Given the description of an element on the screen output the (x, y) to click on. 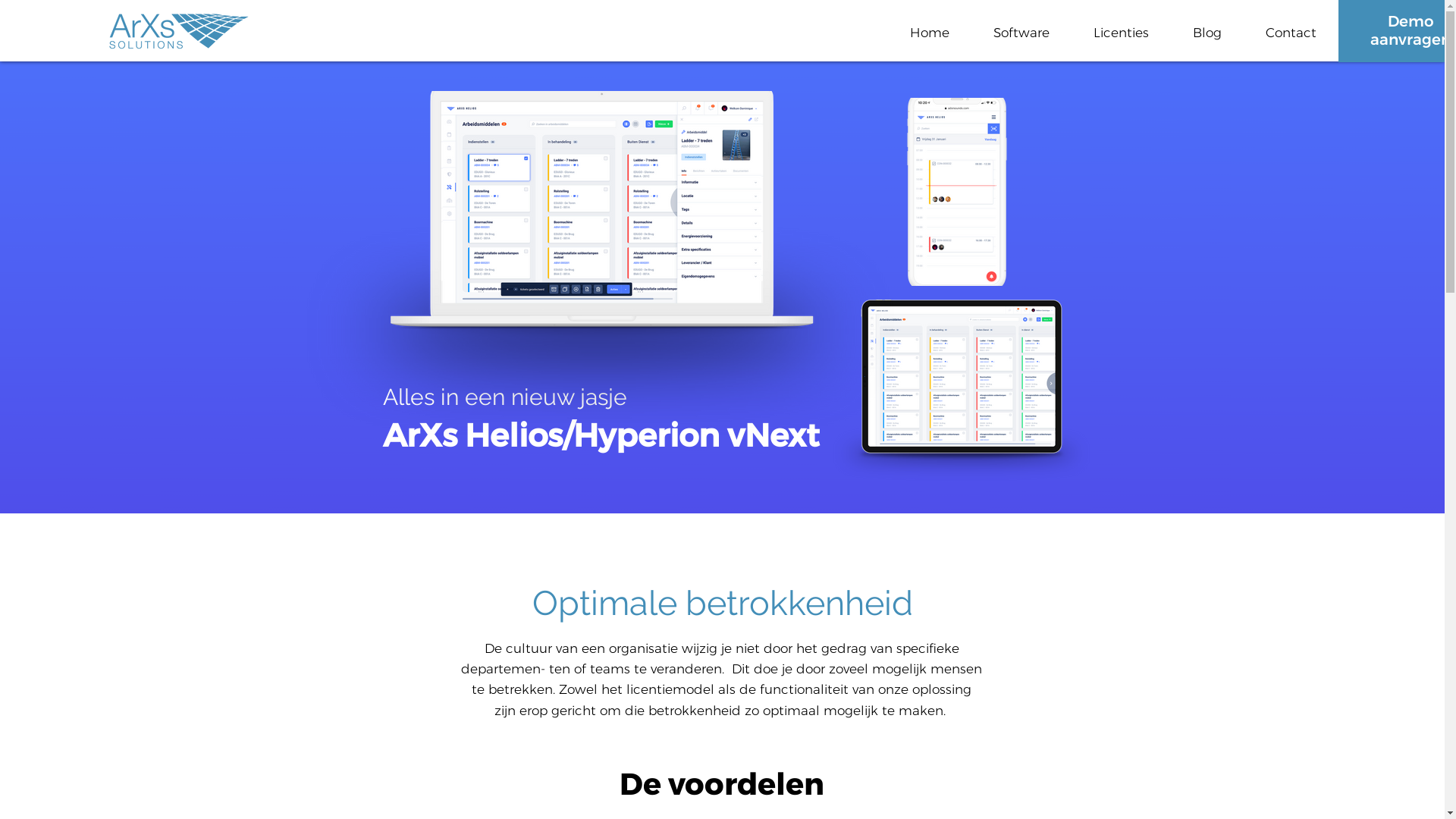
Licenties Element type: text (1120, 32)
Software Element type: text (1021, 32)
Contact Element type: text (1290, 32)
aanvragen Element type: text (1410, 39)
Home Element type: text (929, 32)
Blog Element type: text (1206, 32)
Demo Element type: text (1410, 21)
